Given the description of an element on the screen output the (x, y) to click on. 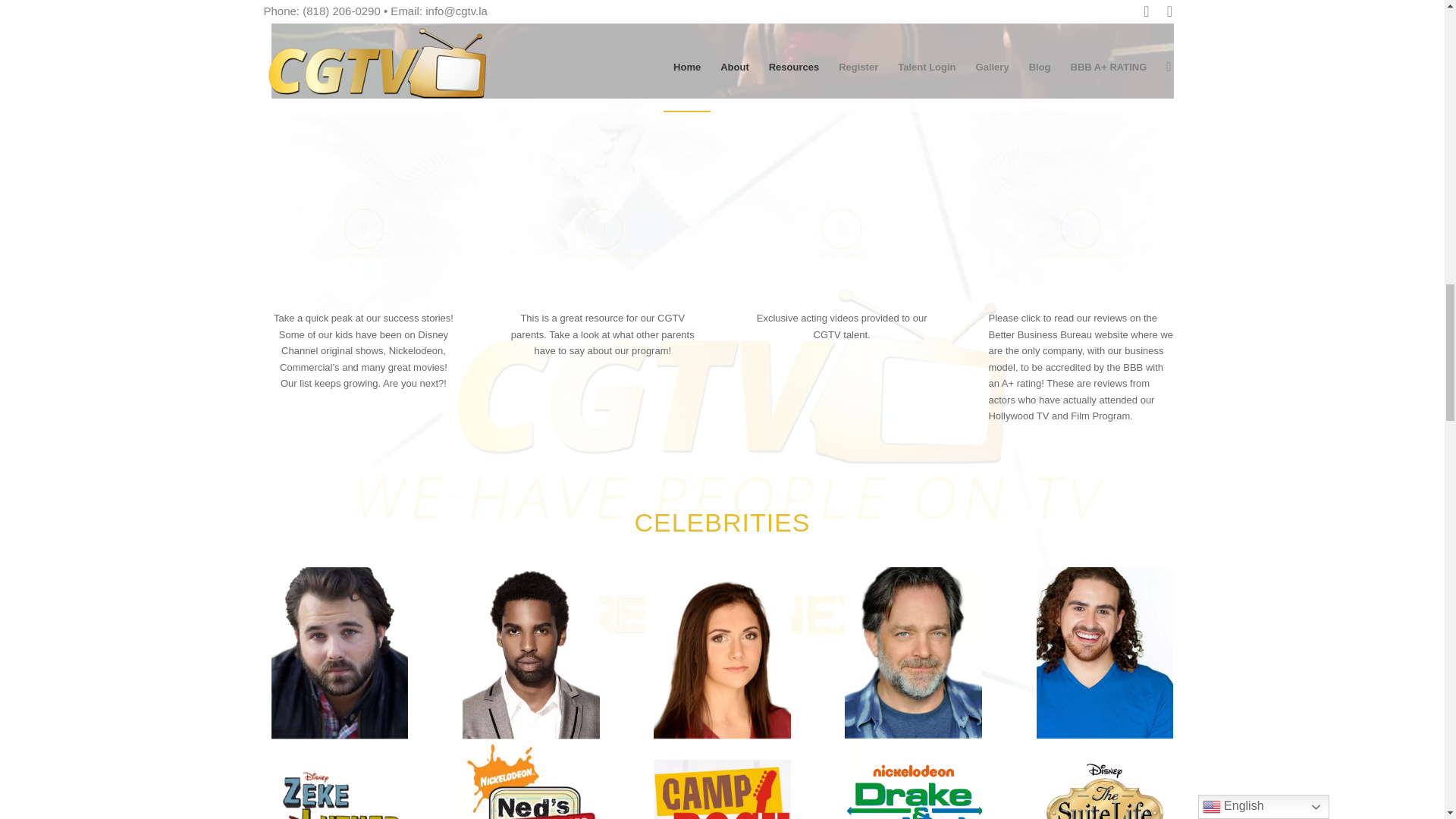
Young actress performing for industry professionals (721, 49)
